Given the description of an element on the screen output the (x, y) to click on. 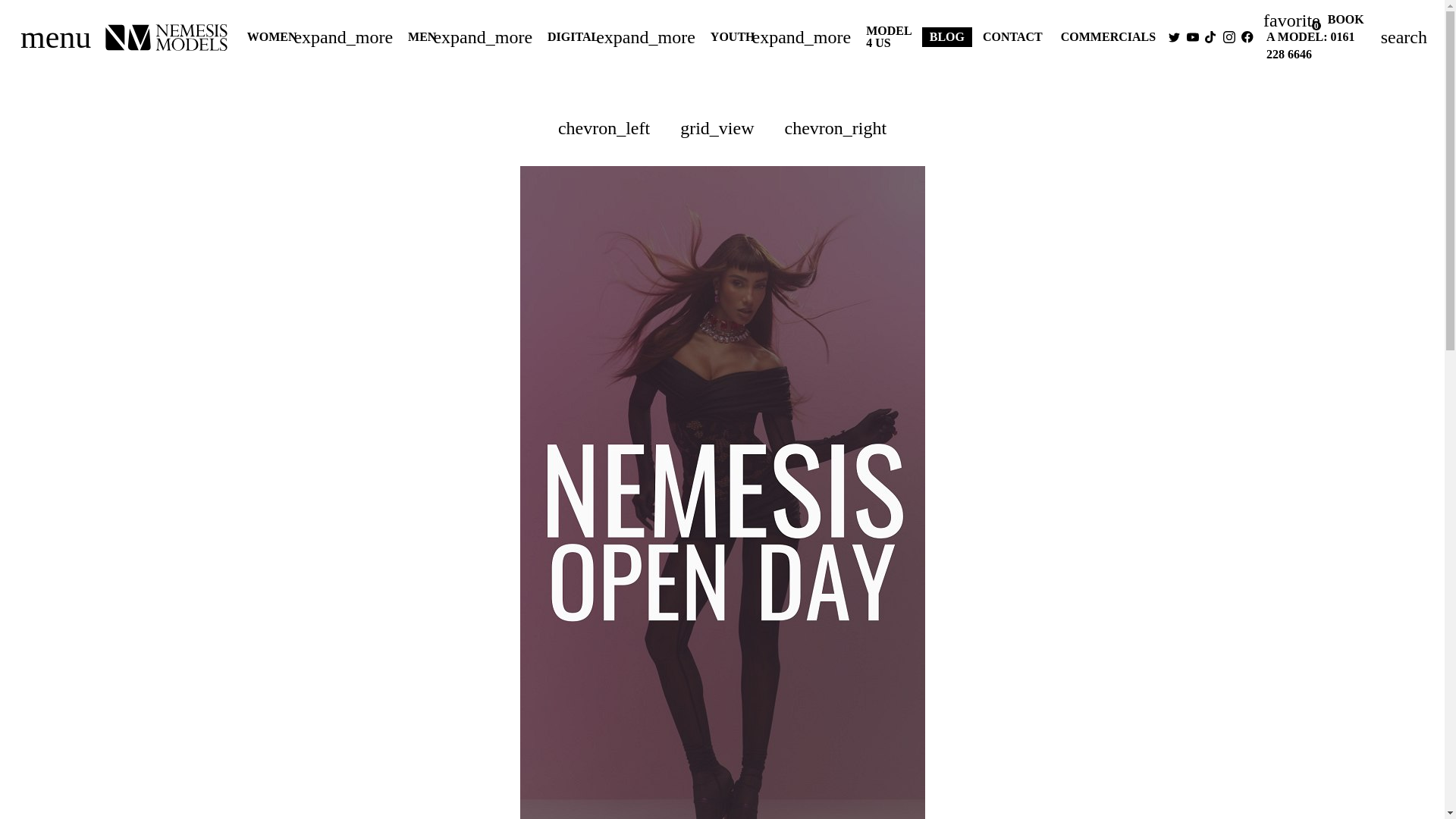
BOOK A MODEL (1315, 28)
CONTACT (1012, 36)
COMMERCIALS (1291, 20)
search (1107, 36)
MODEL 4 US (1403, 36)
0161 228 6646 (888, 37)
menu (1310, 45)
BLOG (55, 36)
